Given the description of an element on the screen output the (x, y) to click on. 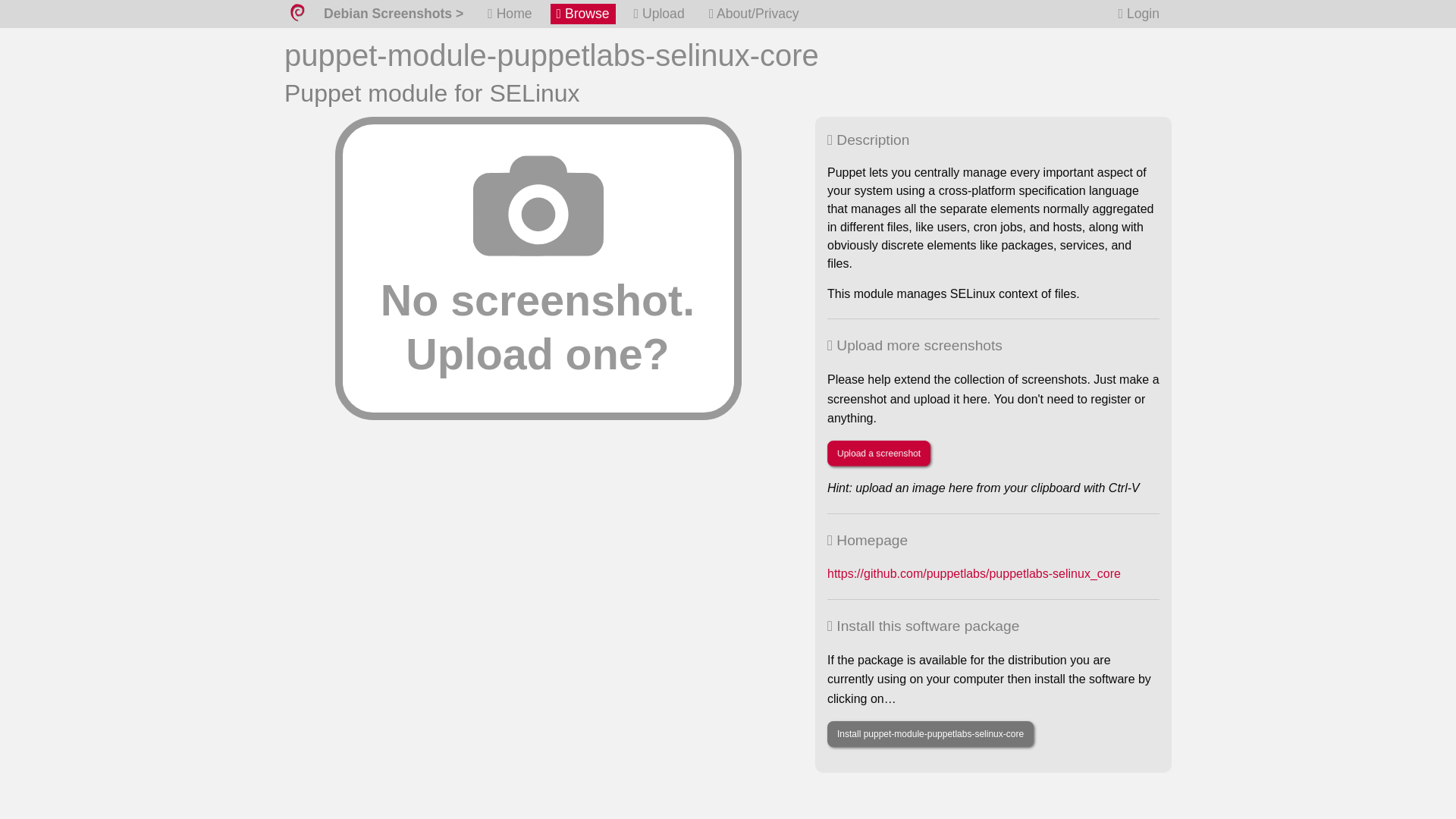
Upload (658, 14)
Upload a screenshot (878, 453)
Install puppet-module-puppetlabs-selinux-core (930, 733)
Browse (582, 14)
Login (1139, 14)
Home (509, 14)
